Given the description of an element on the screen output the (x, y) to click on. 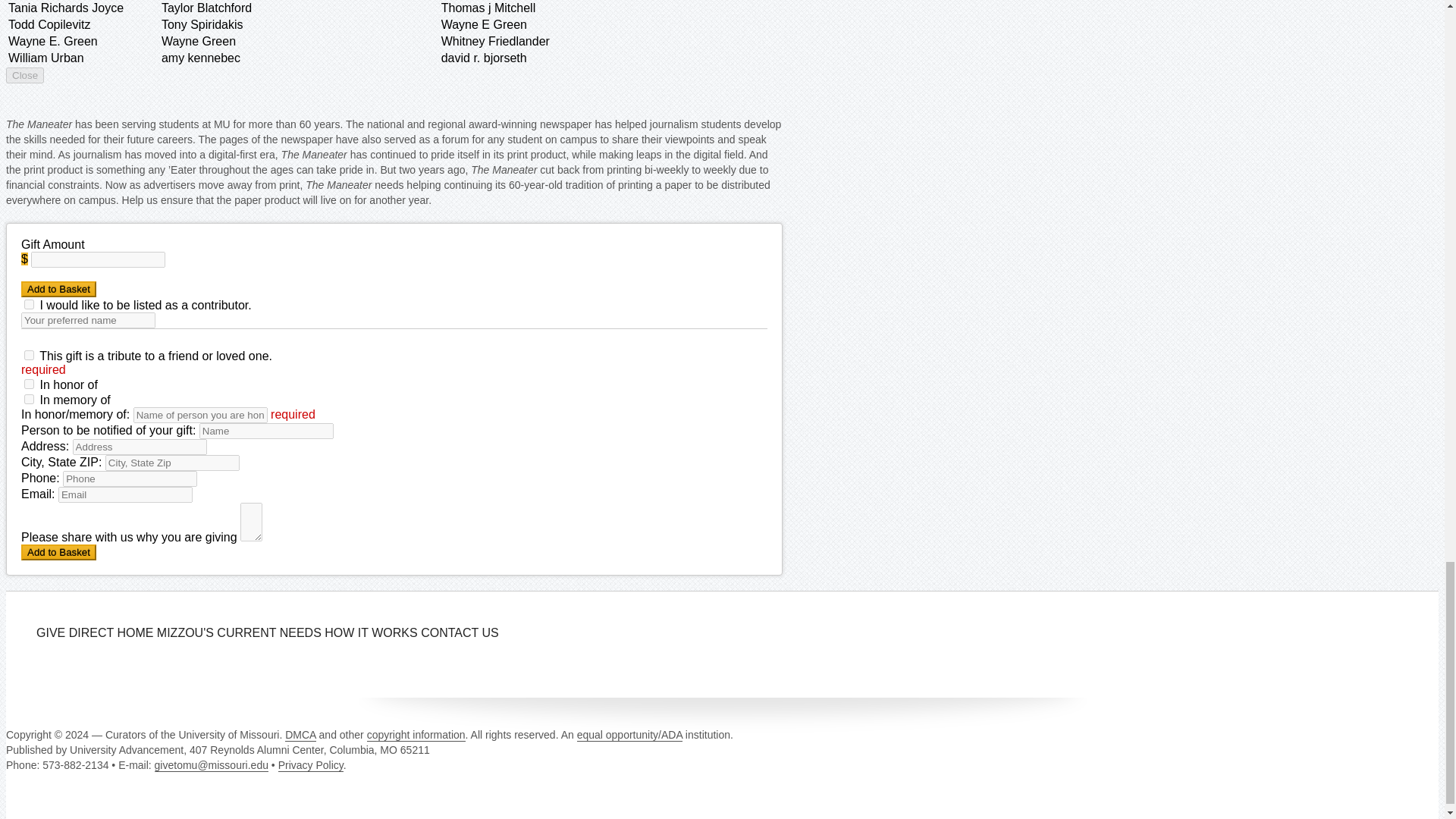
Add to Basket (58, 289)
Add to Basket (58, 552)
on (28, 384)
on (28, 398)
on (28, 355)
on (28, 304)
